Given the description of an element on the screen output the (x, y) to click on. 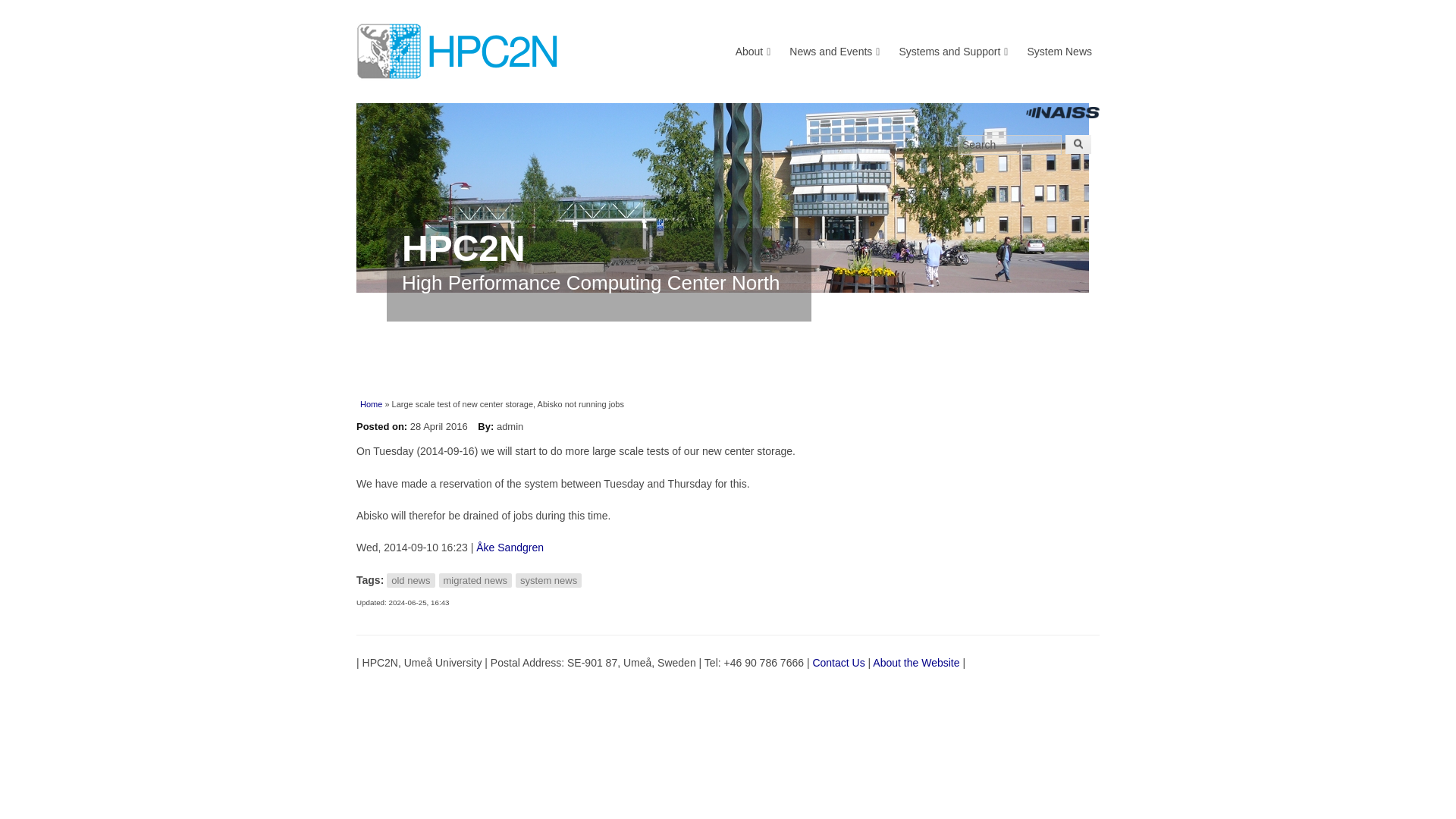
Search (1009, 144)
News and Events (834, 51)
Enter the terms you wish to search for. (1009, 144)
Home (727, 51)
Search (1009, 144)
View user profile. (509, 547)
Systems and Support (952, 51)
About (753, 51)
